Given the description of an element on the screen output the (x, y) to click on. 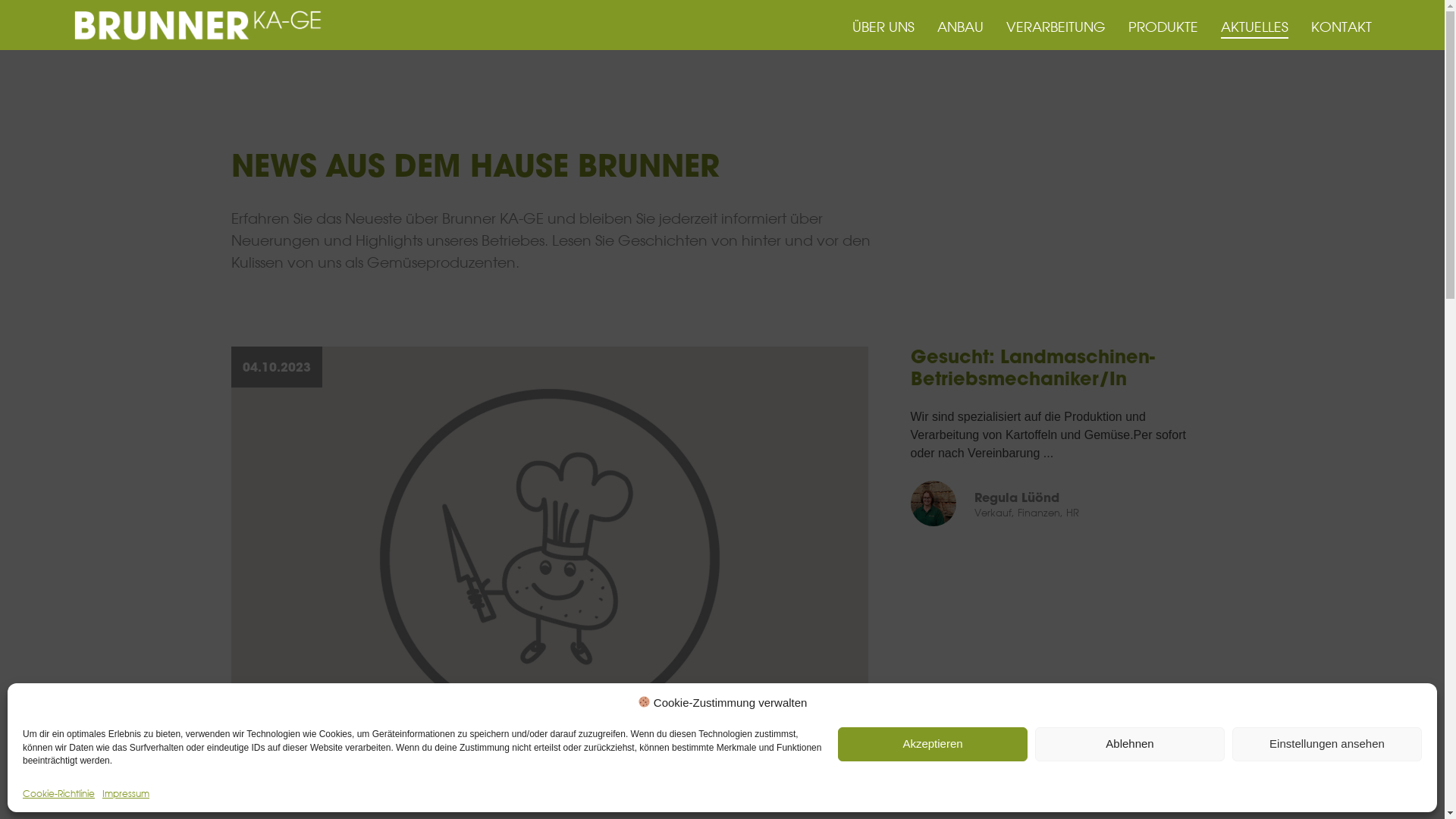
VERARBEITUNG Element type: text (1055, 26)
Cookie-Richtlinie Element type: text (58, 793)
Einstellungen ansehen Element type: text (1326, 743)
KONTAKT Element type: text (1341, 26)
Gesucht: Landmaschinen- Betriebsmechaniker/In Element type: text (1052, 368)
PRODUKTE Element type: text (1163, 26)
ANBAU Element type: text (960, 26)
AKTUELLES Element type: text (1254, 26)
Impressum Element type: text (125, 793)
Ablehnen Element type: text (1129, 743)
Akzeptieren Element type: text (932, 743)
